Given the description of an element on the screen output the (x, y) to click on. 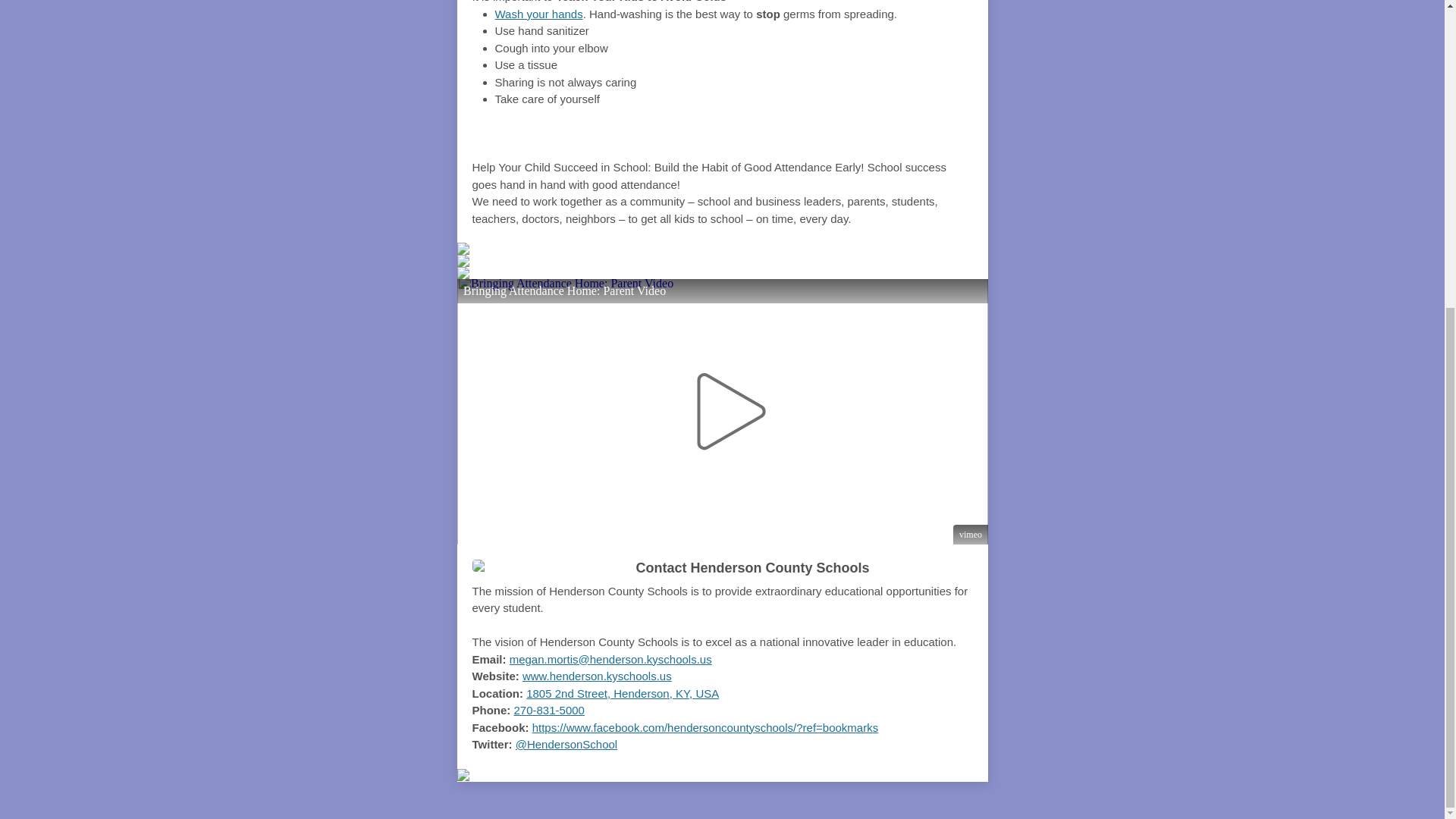
270-831-5000 (549, 709)
www.henderson.kyschools.us (596, 675)
Wash your hands (538, 13)
1805 2nd Street, Henderson, KY, USA (622, 693)
